Given the description of an element on the screen output the (x, y) to click on. 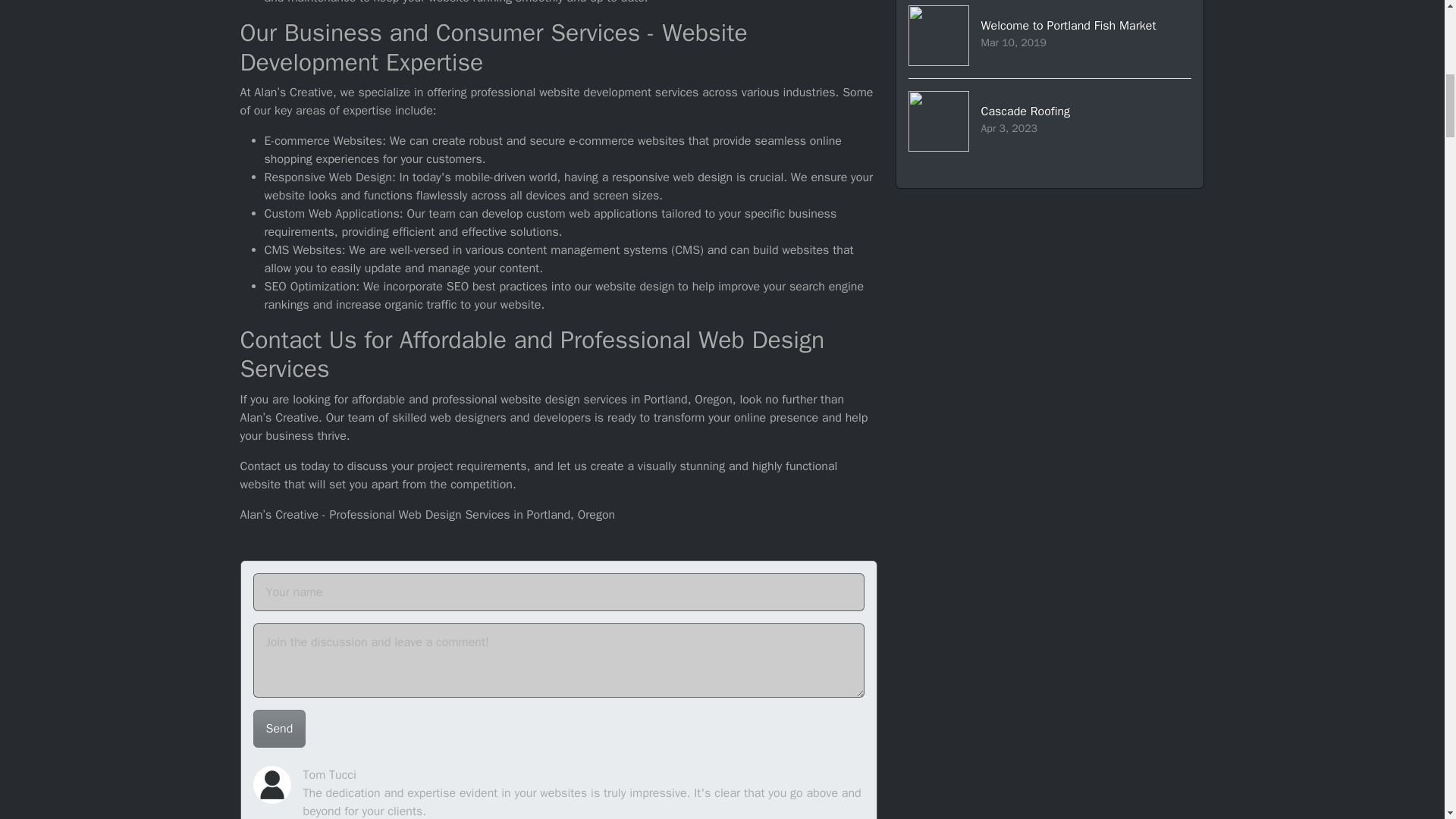
Send (279, 728)
Send (1050, 38)
